Given the description of an element on the screen output the (x, y) to click on. 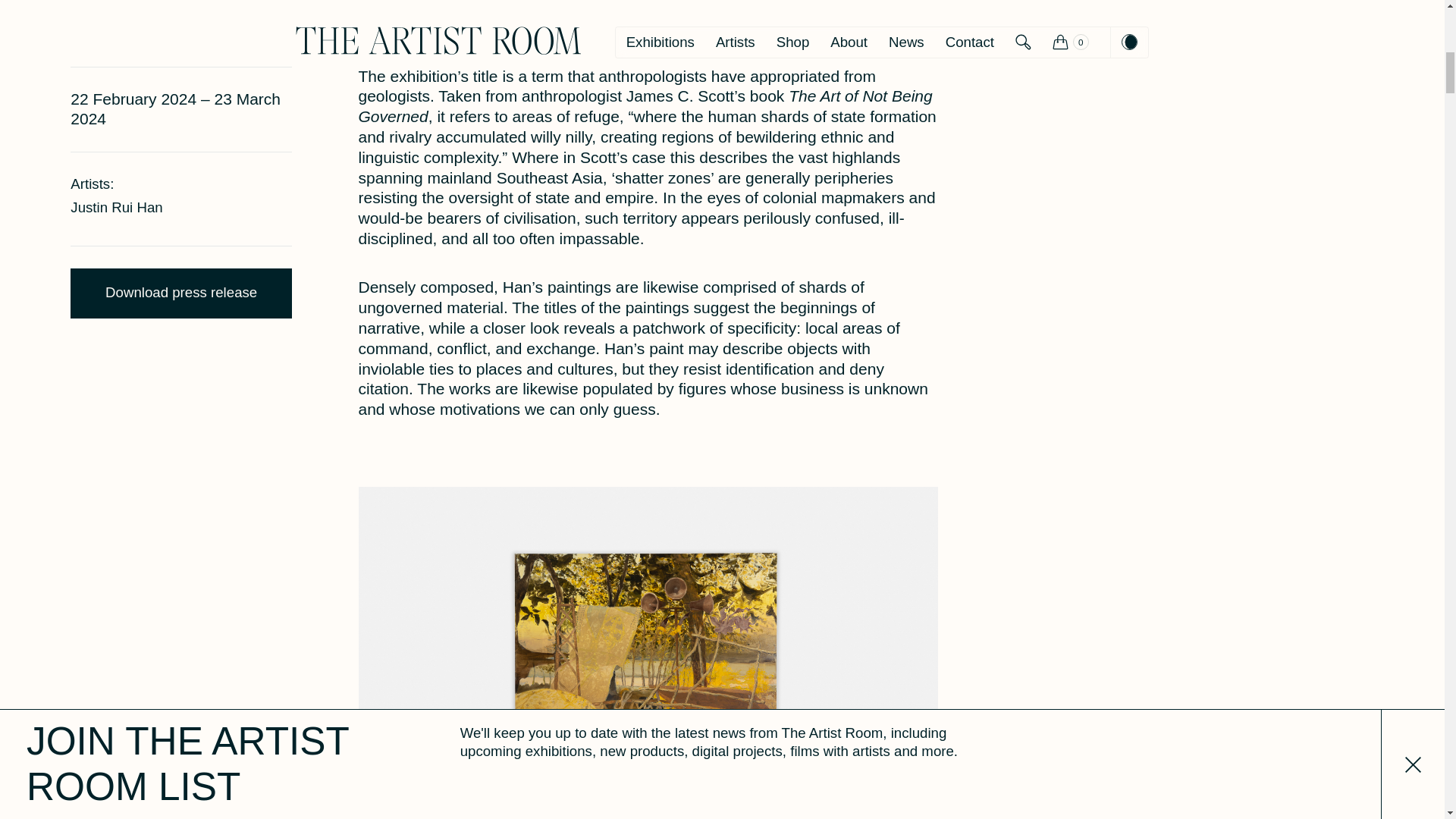
Download press release (180, 293)
Justin Rui Han (115, 207)
